Given the description of an element on the screen output the (x, y) to click on. 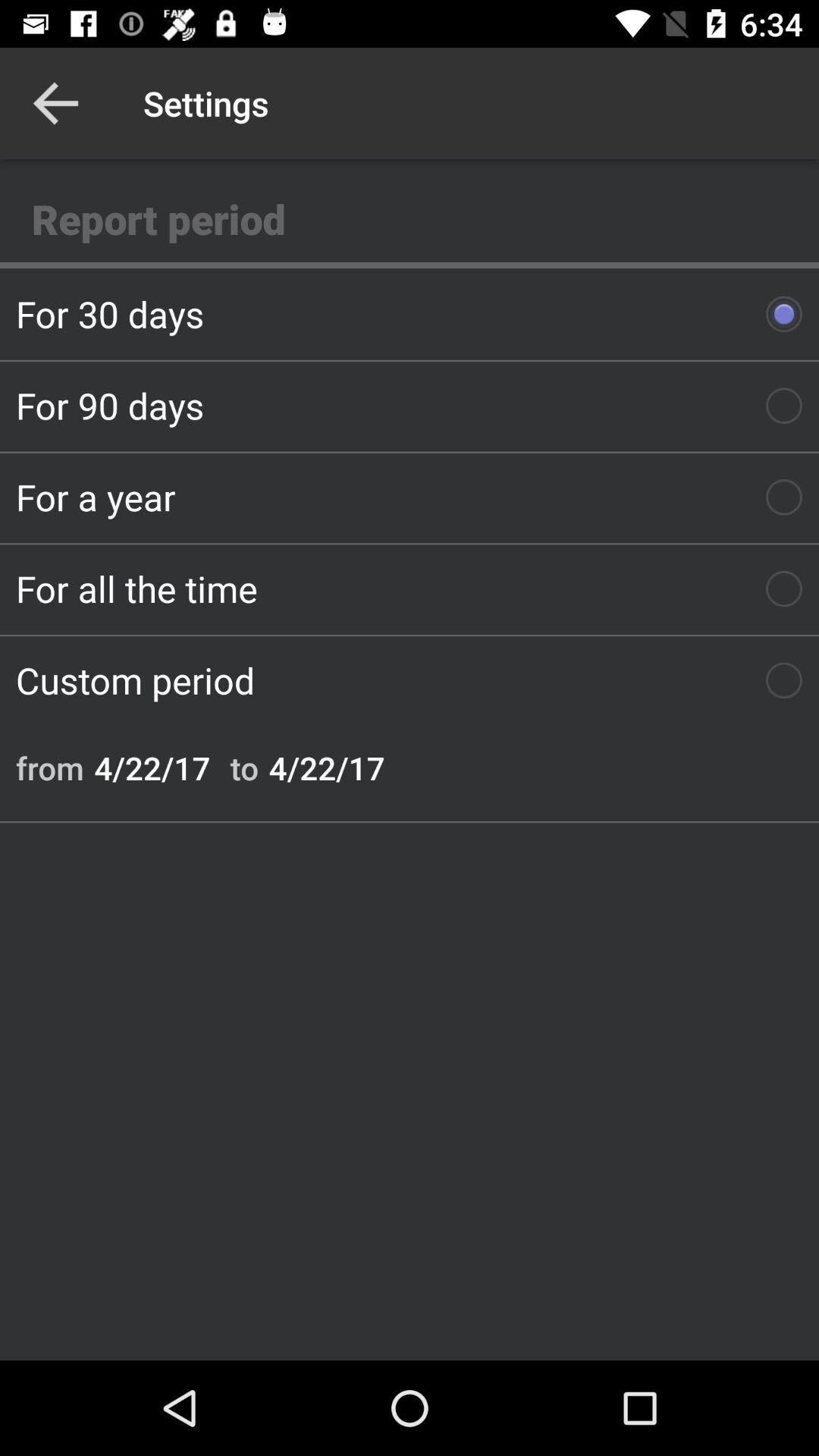
launch to item (244, 767)
